Given the description of an element on the screen output the (x, y) to click on. 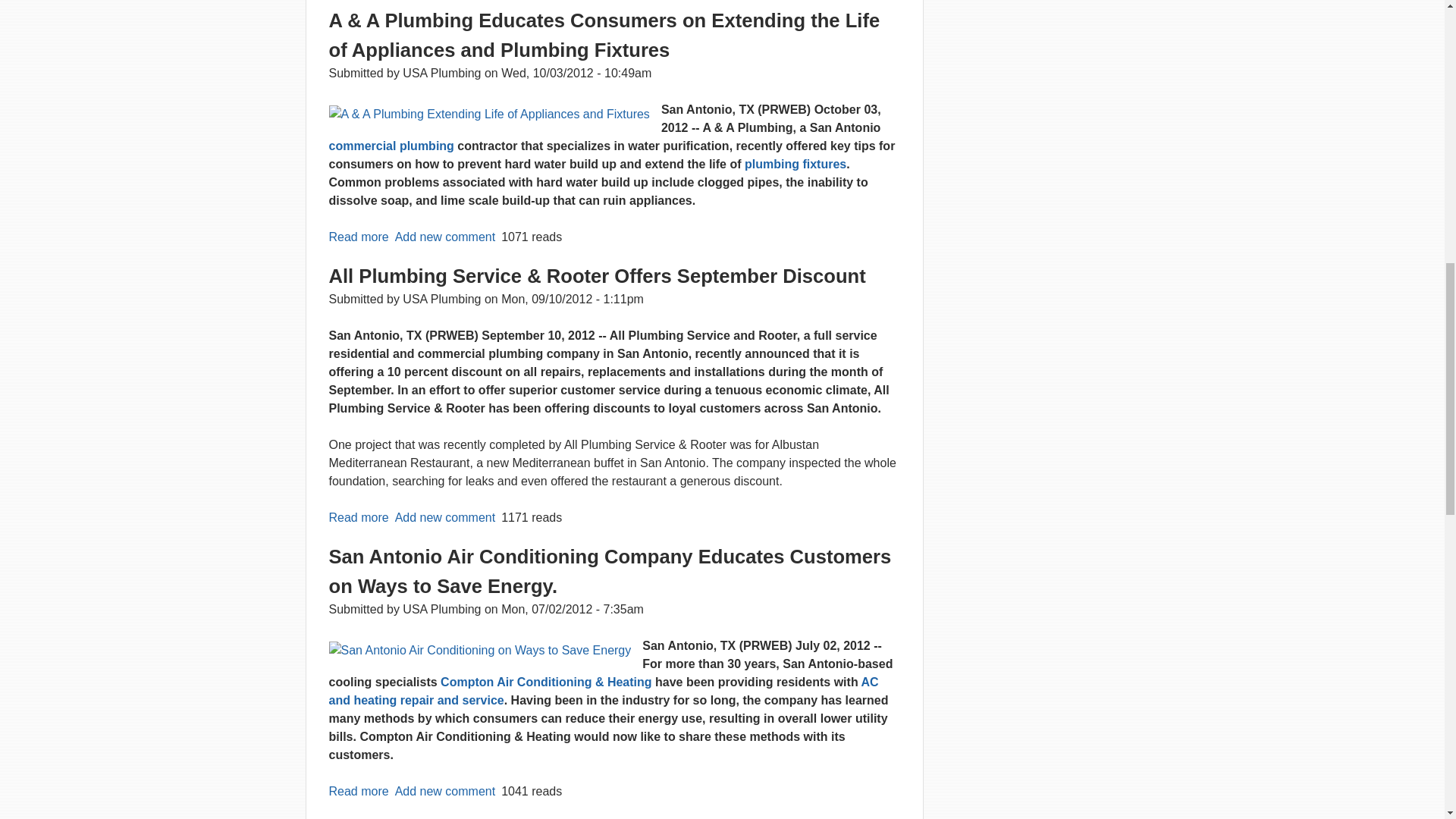
Add new comment (445, 790)
Add new comment (445, 236)
commercial plumbing (391, 145)
AC and heating repair and service (604, 690)
Add new comment (445, 517)
plumbing fixtures (794, 164)
